Given the description of an element on the screen output the (x, y) to click on. 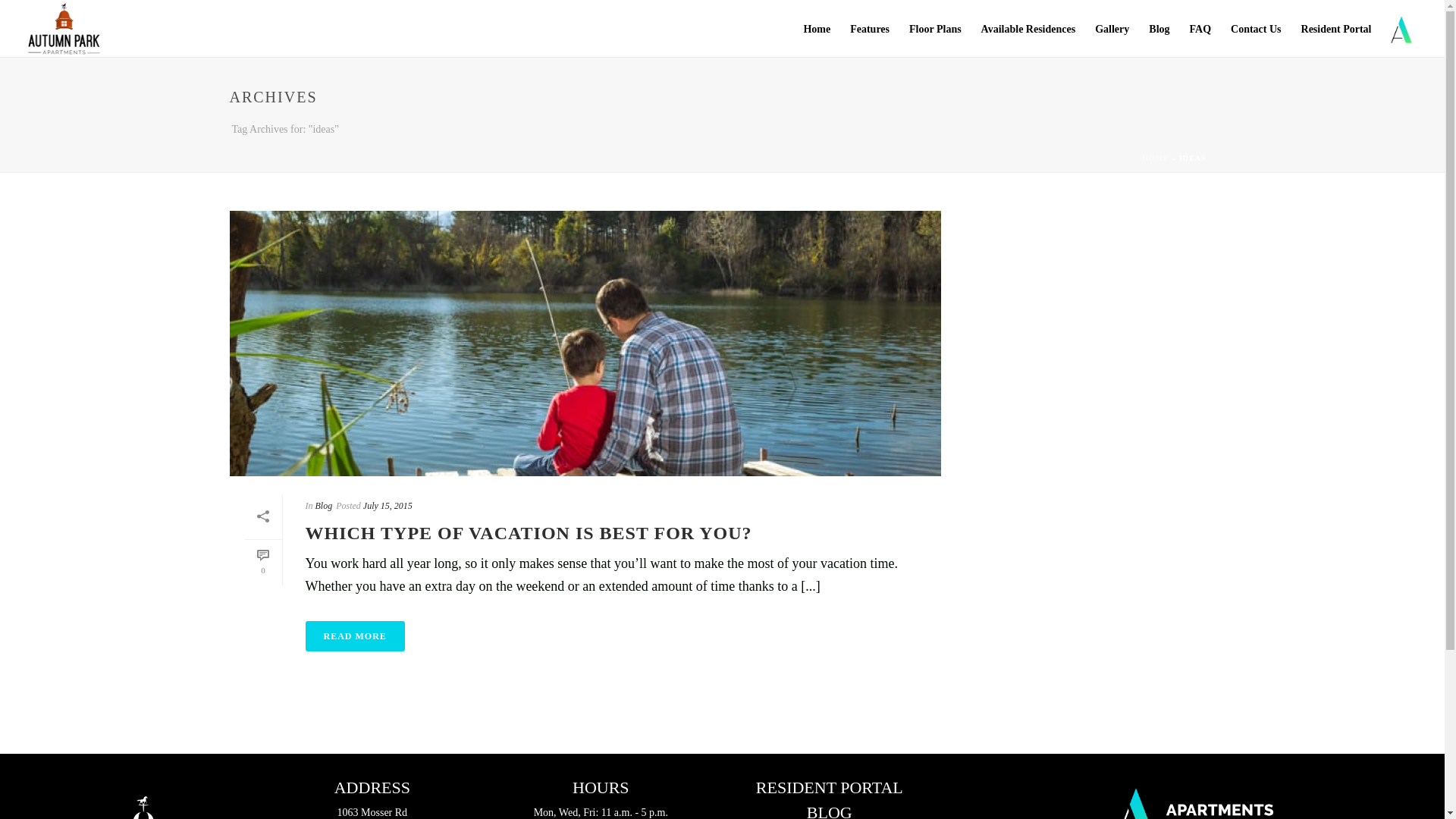
Blog (1158, 29)
Blog (1158, 29)
Floor Plans (935, 29)
Autumn Park Logo (143, 797)
WHICH TYPE OF VACATION IS BEST FOR YOU? (527, 532)
July 15, 2015 (387, 505)
Gallery (1111, 29)
Home (816, 29)
RESIDENT PORTAL (828, 789)
Resident Portal (1336, 29)
Gallery (1111, 29)
Apartments Seldom Scene Logo (1193, 797)
